Given the description of an element on the screen output the (x, y) to click on. 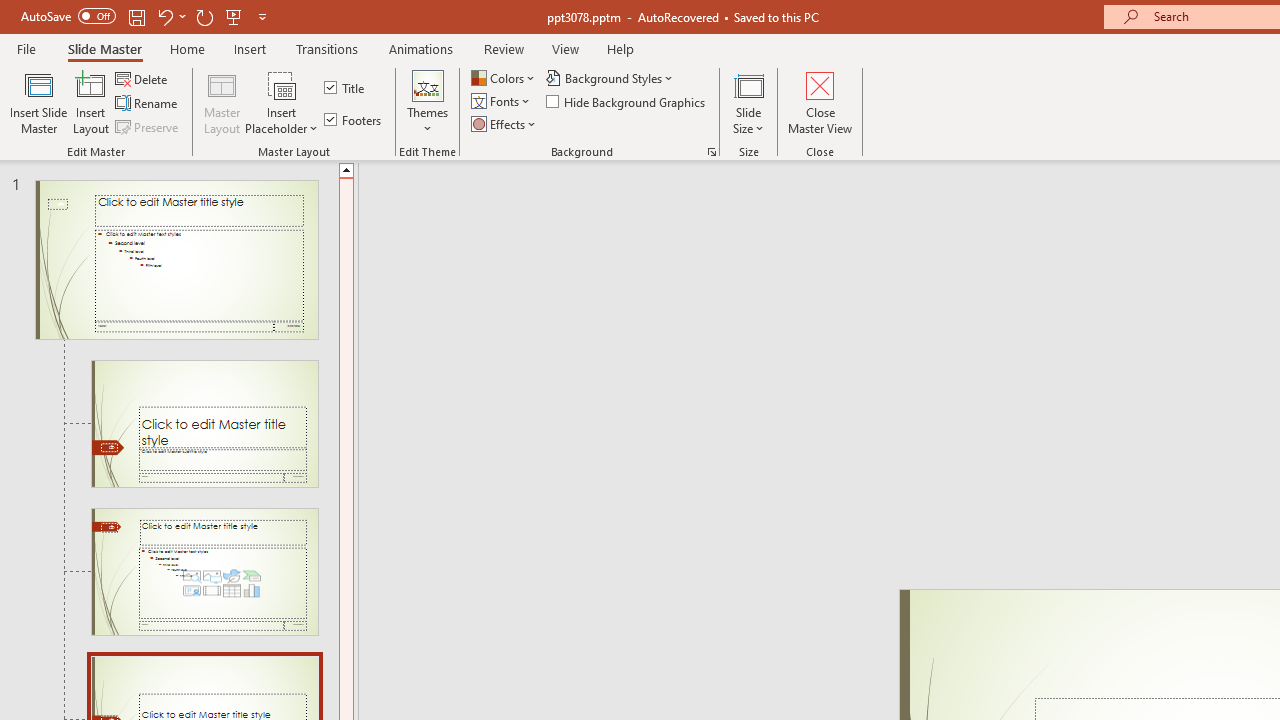
Slide Wisp Slide Master: used by slide(s) 1 (176, 259)
Slide Title Slide Layout: used by slide(s) 1 (204, 423)
Insert Placeholder (282, 102)
Fonts (502, 101)
Title (346, 87)
Content (282, 84)
Hide Background Graphics (626, 101)
